Given the description of an element on the screen output the (x, y) to click on. 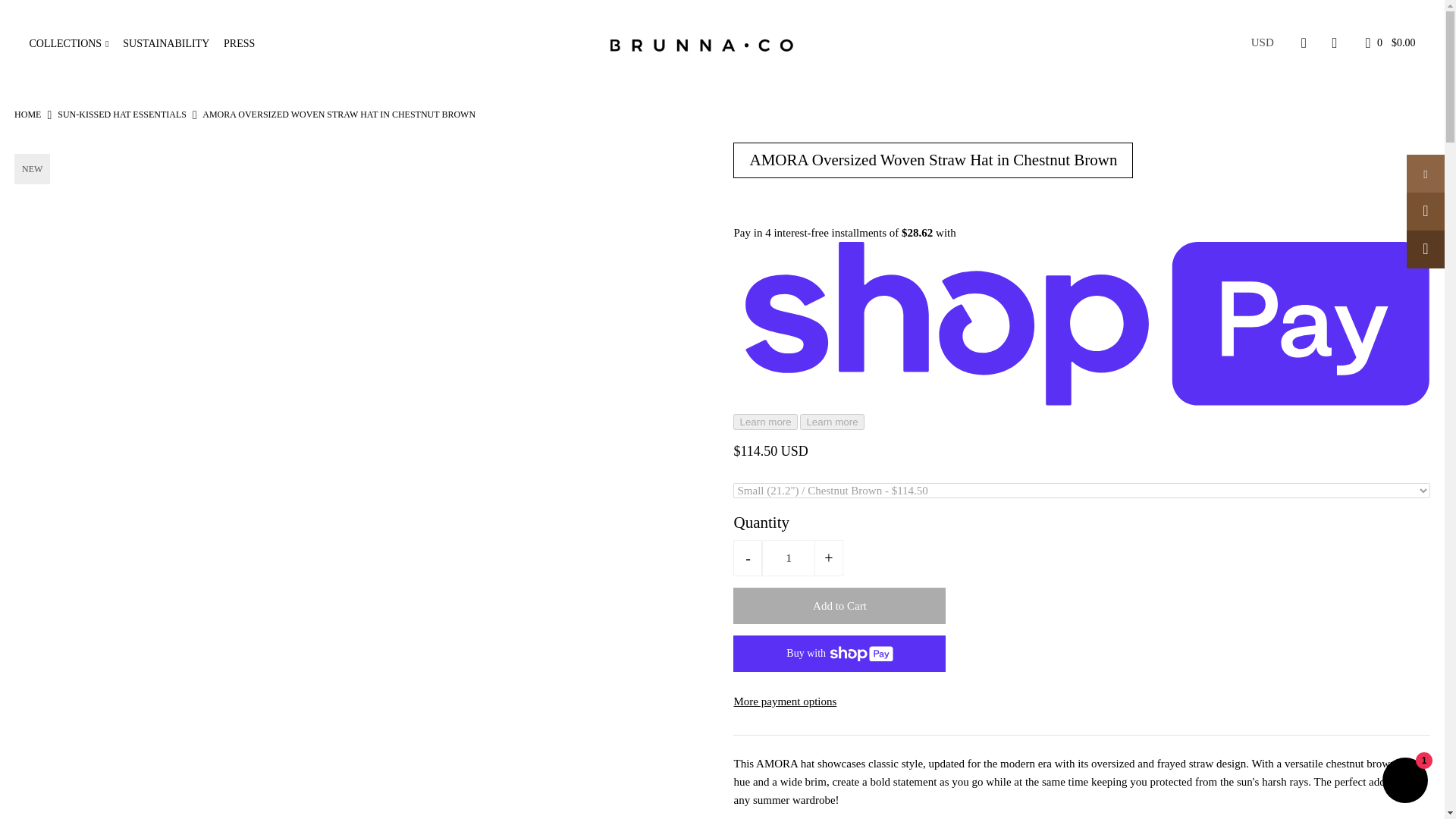
SUN-KISSED HAT ESSENTIALS (122, 113)
HOME (27, 113)
More payment options (1081, 701)
Add to Cart (838, 606)
SUSTAINABILITY (171, 43)
Home (27, 113)
COLLECTIONS (74, 43)
PRESS (245, 43)
1 (788, 557)
Add to Cart (838, 606)
